Given the description of an element on the screen output the (x, y) to click on. 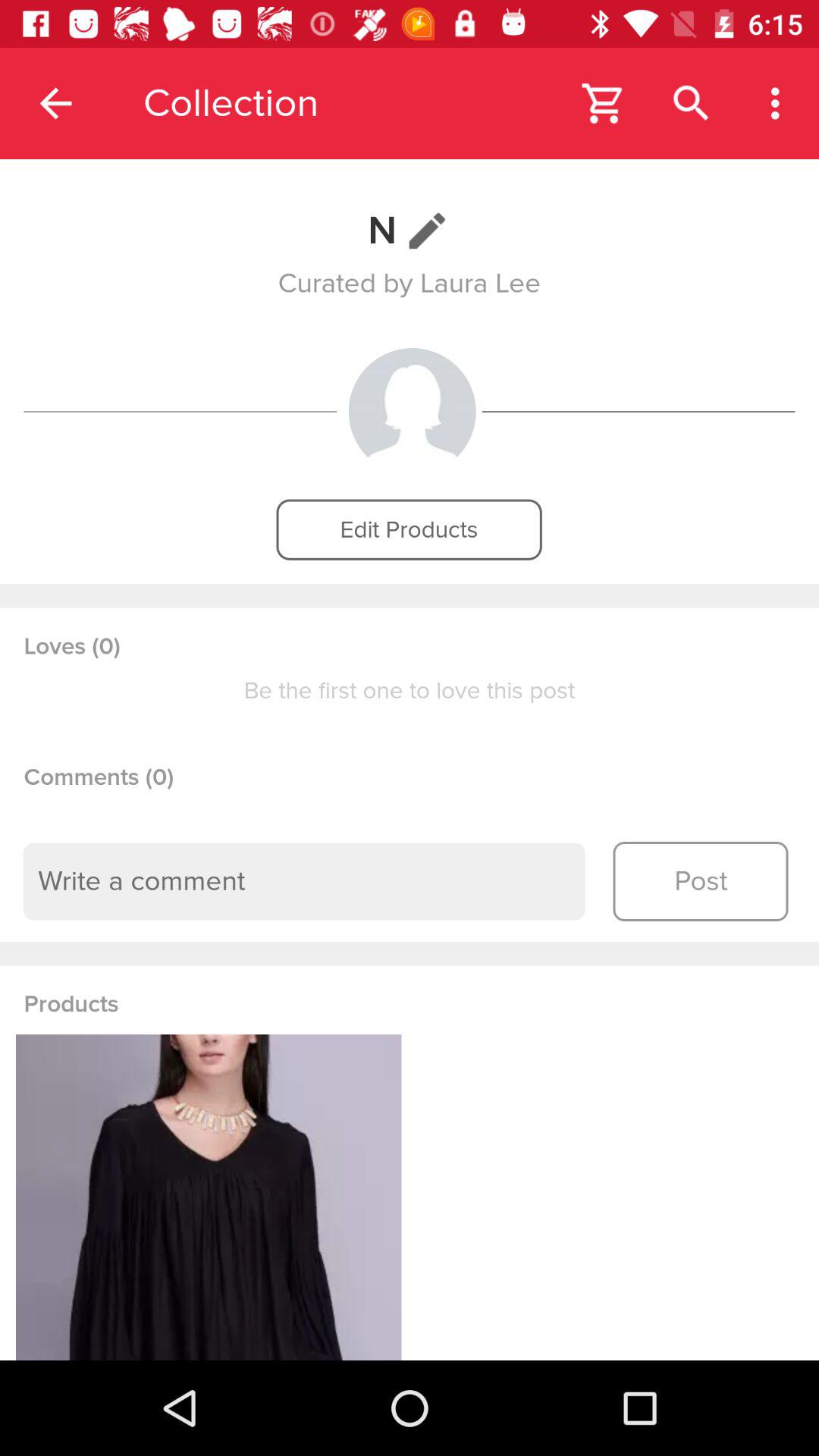
jump until n item (409, 230)
